Given the description of an element on the screen output the (x, y) to click on. 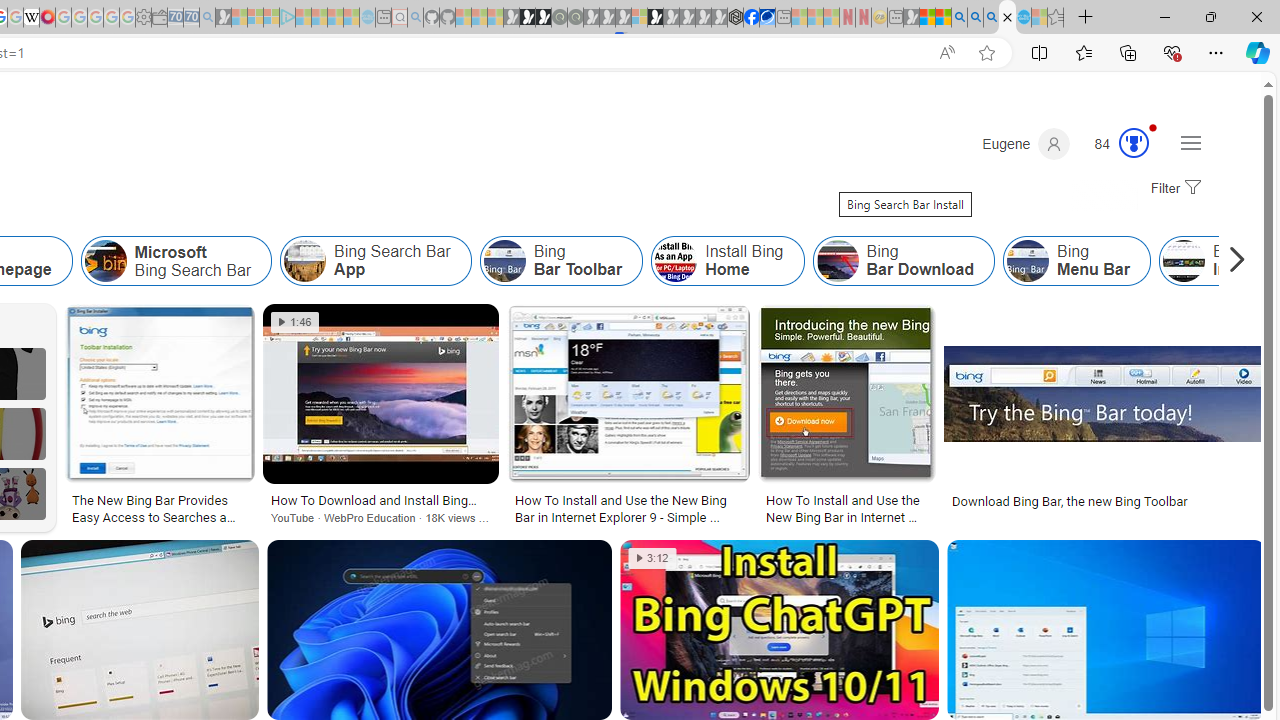
Animation (1153, 127)
Microsoft Rewards 84 (1115, 143)
